Given the description of an element on the screen output the (x, y) to click on. 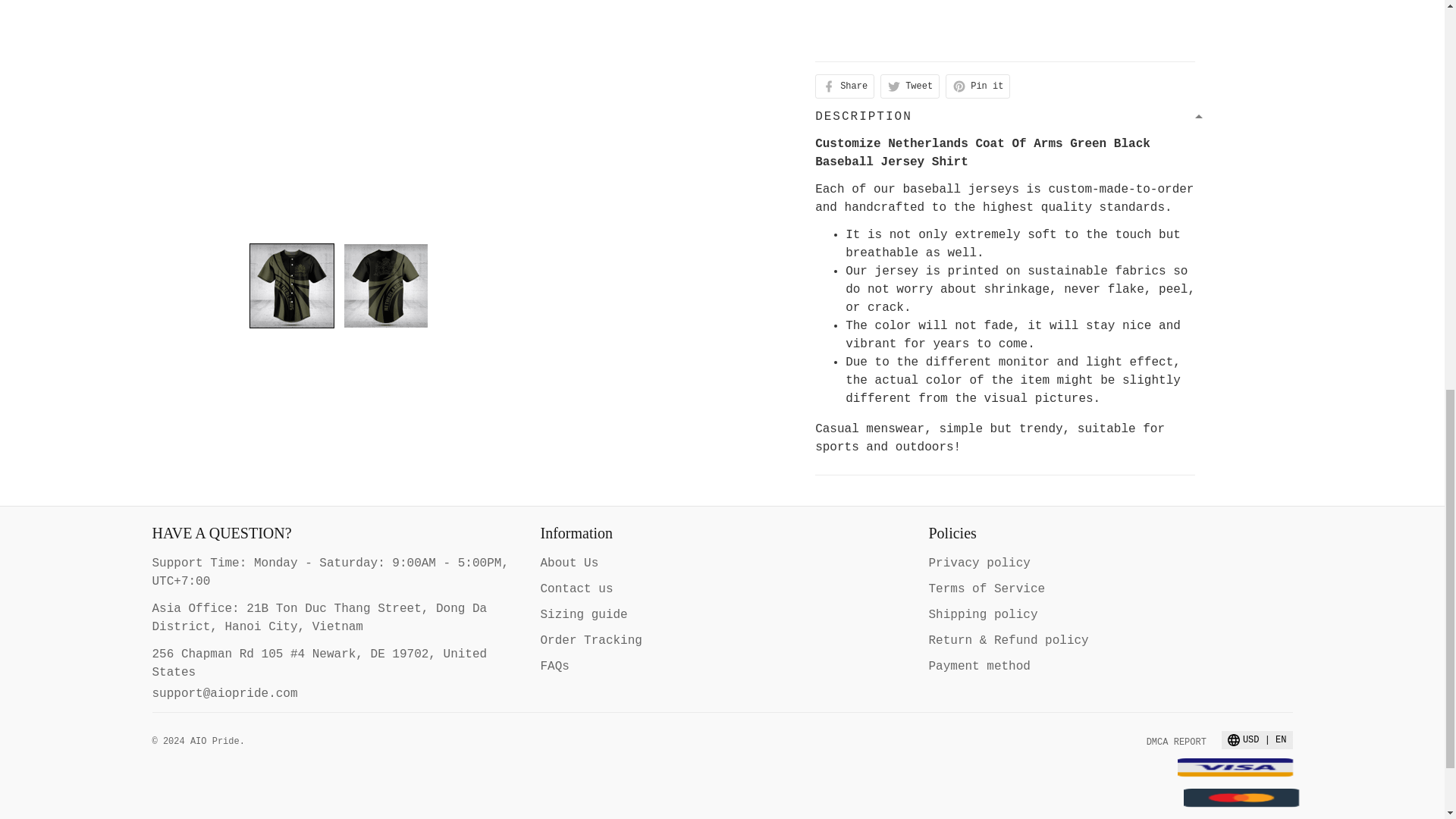
Shipping policy (982, 614)
Share on Twitter (909, 86)
Share (845, 86)
Contact us (576, 589)
DMCA REPORT (1177, 742)
Privacy policy (978, 563)
FAQs (554, 666)
Order Tracking (591, 640)
Pin it (977, 86)
Payment method (978, 666)
Share on Facebook (845, 86)
About Us (569, 563)
Terms of Service (986, 589)
Sizing guide (583, 614)
Tweet (909, 86)
